Given the description of an element on the screen output the (x, y) to click on. 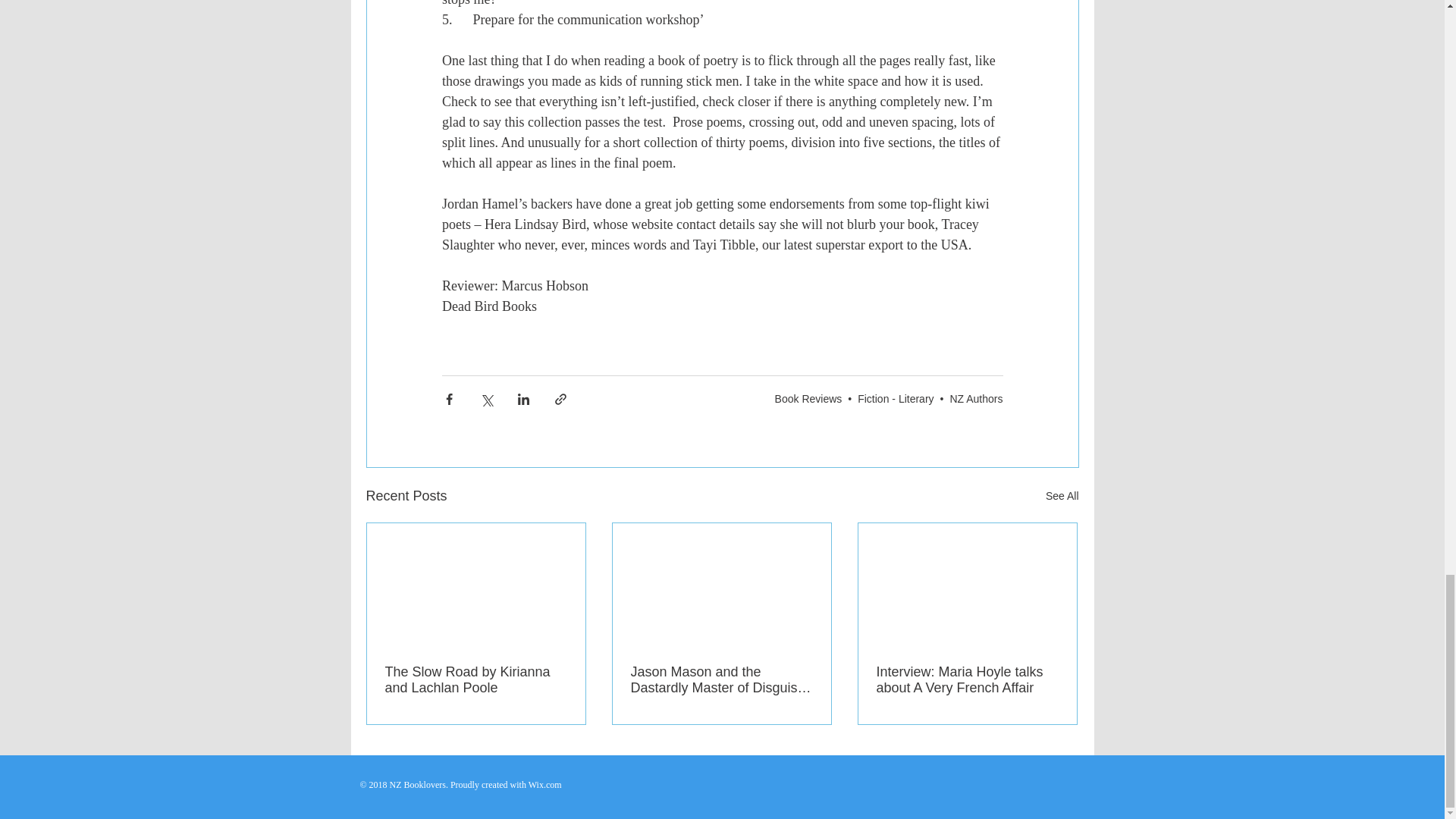
See All (1061, 495)
Book Reviews (808, 398)
Fiction - Literary (895, 398)
NZ Authors (976, 398)
